Given the description of an element on the screen output the (x, y) to click on. 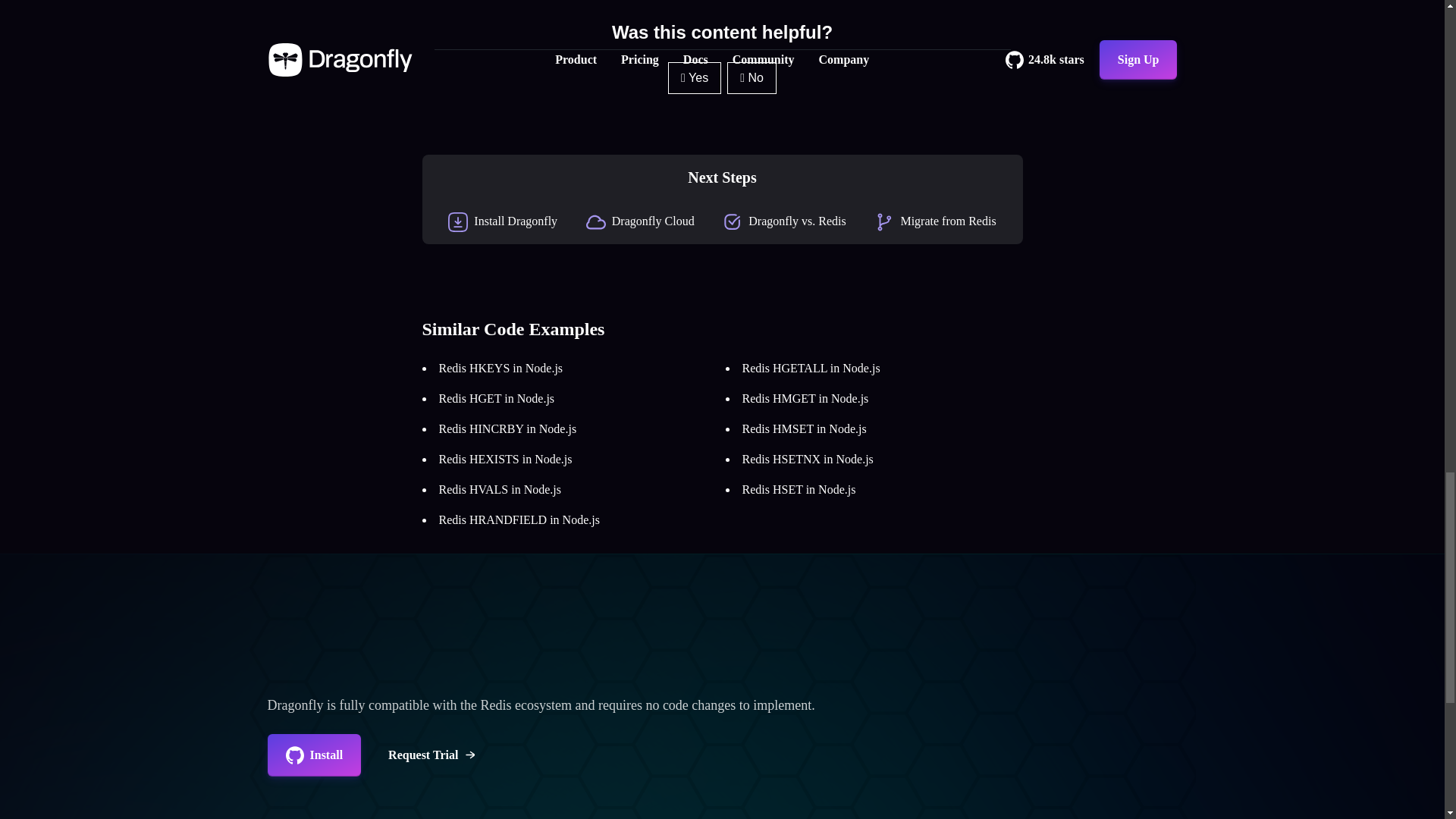
Redis HGET in Node.js (496, 398)
Dragonfly vs. Redis (796, 221)
Install Dragonfly (515, 221)
Dragonfly Cloud (652, 221)
Redis HEXISTS in Node.js (505, 459)
Redis HMGET in Node.js (804, 398)
Migrate from Redis (947, 221)
Redis HINCRBY in Node.js (507, 428)
Redis HMSET in Node.js (803, 428)
Redis HKEYS in Node.js (500, 367)
Redis HGETALL in Node.js (810, 367)
